Given the description of an element on the screen output the (x, y) to click on. 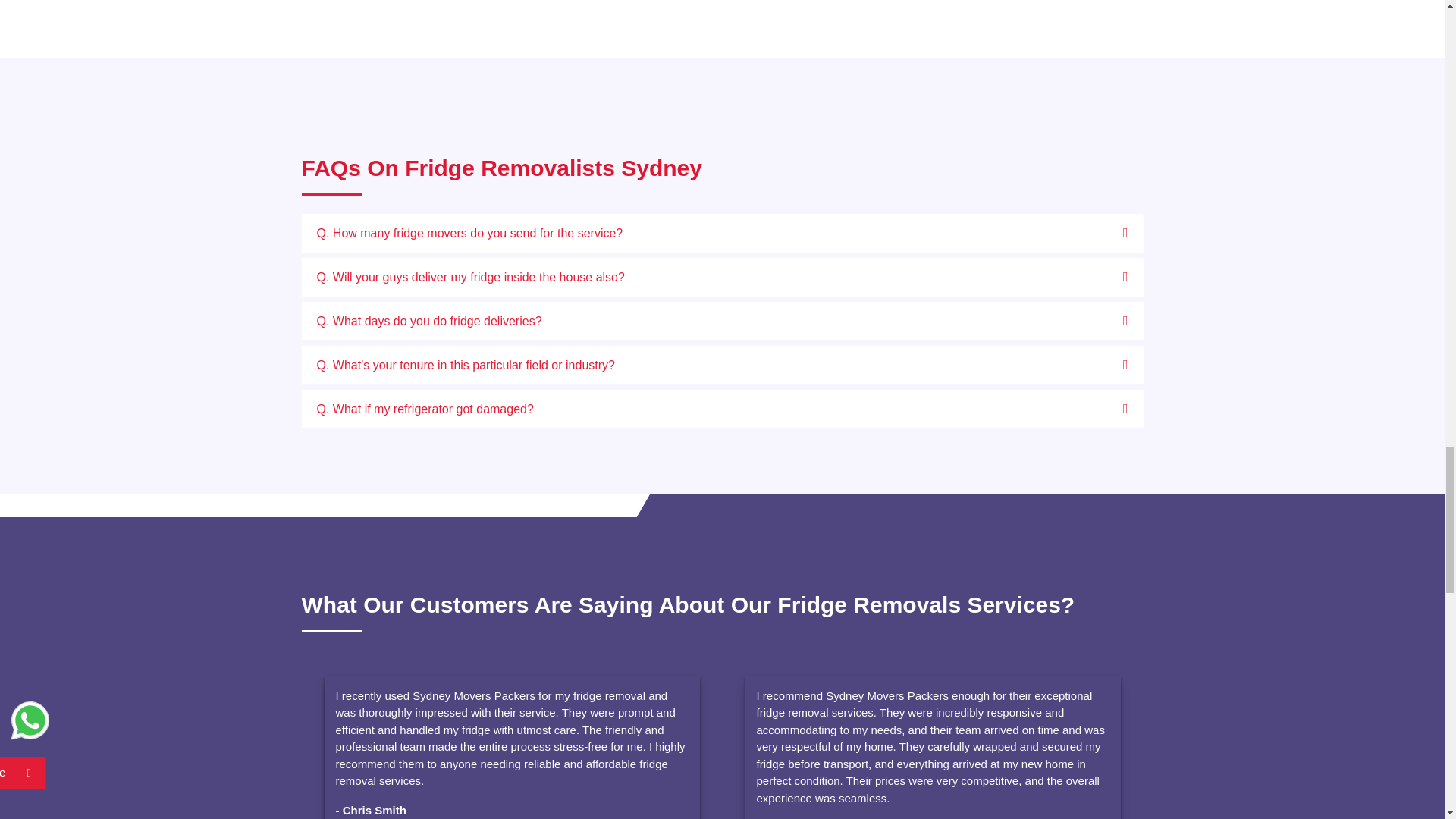
Q. What days do you do fridge deliveries? (721, 321)
Q. Will your guys deliver my fridge inside the house also? (721, 276)
Q. What's your tenure in this particular field or industry? (721, 364)
Q. How many fridge movers do you send for the service? (721, 232)
